Given the description of an element on the screen output the (x, y) to click on. 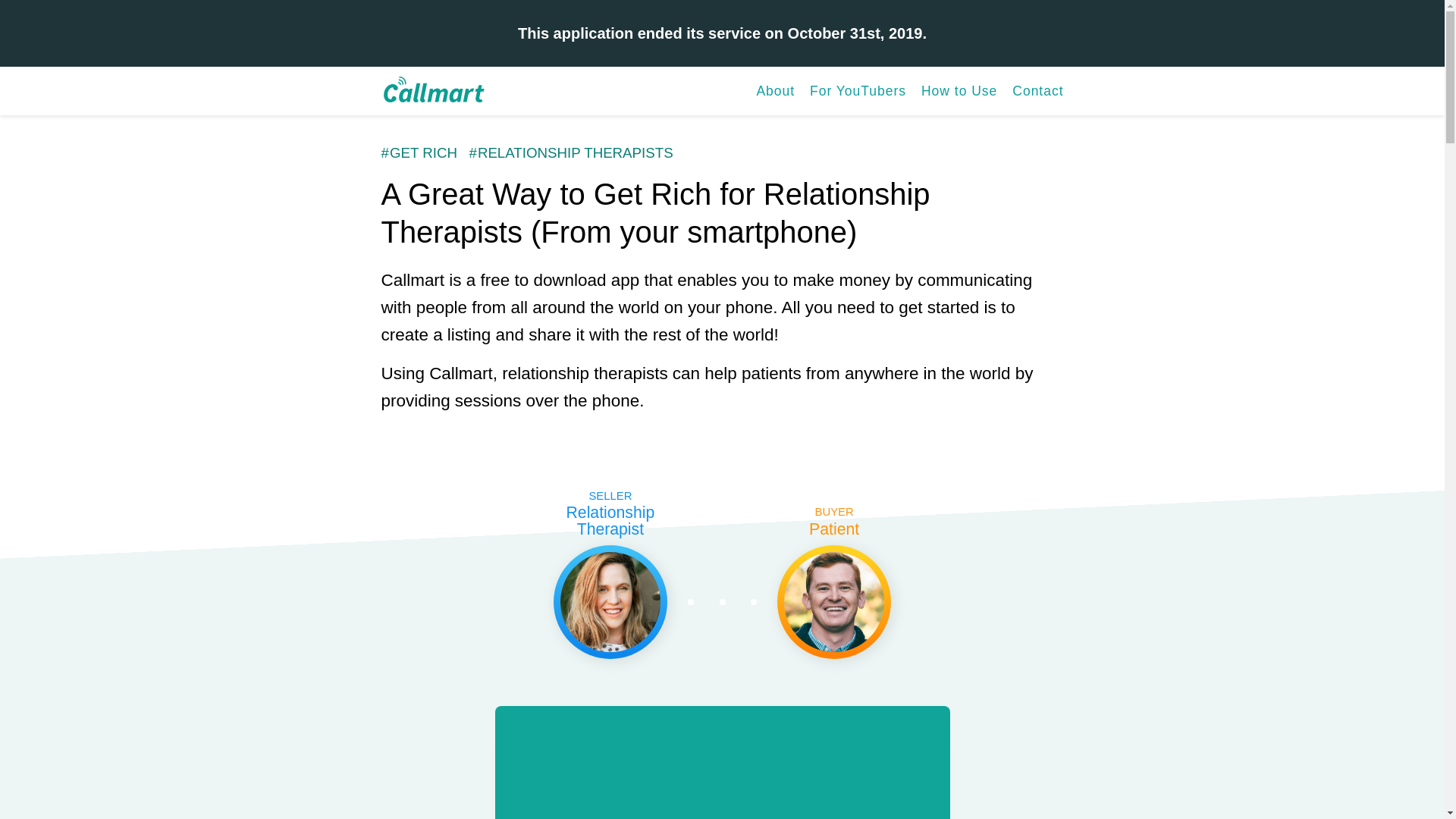
Contact (1036, 90)
For YouTubers (857, 90)
How to Use (959, 90)
About (774, 90)
